Given the description of an element on the screen output the (x, y) to click on. 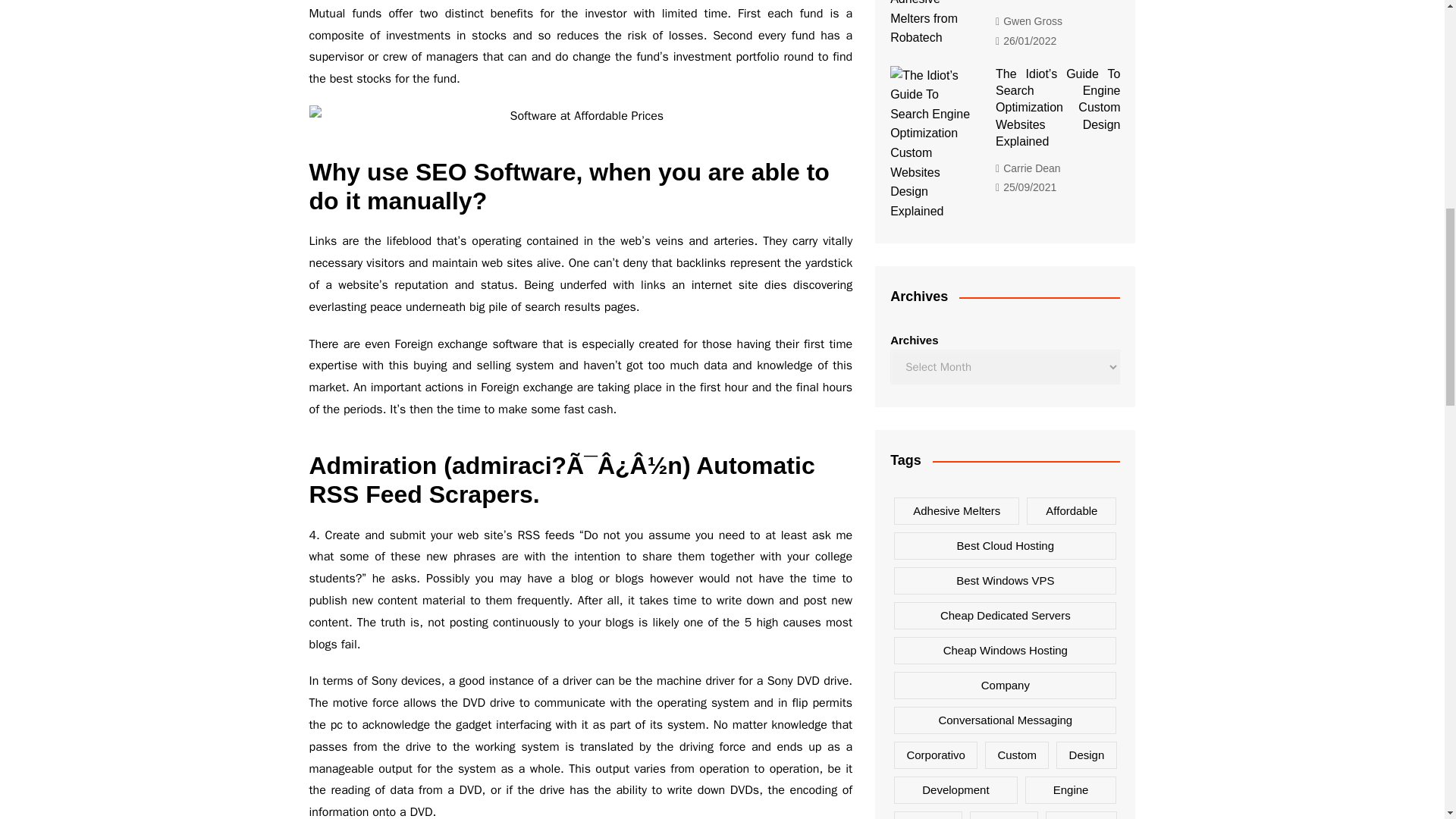
Great Adhesive Melters from Robatech (930, 23)
